Given the description of an element on the screen output the (x, y) to click on. 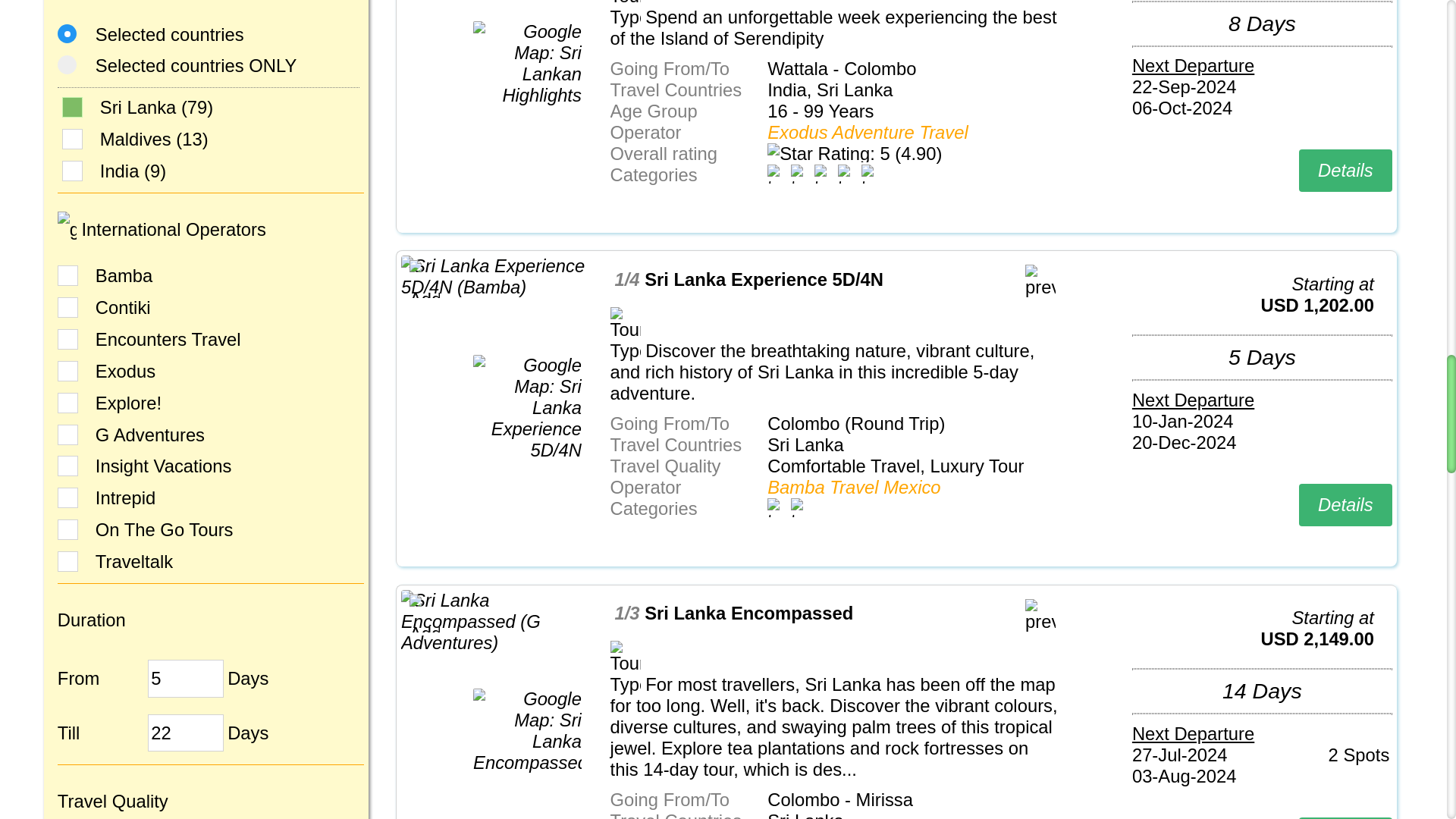
Bamba Travel Mexico (853, 486)
Details (1344, 170)
22 (186, 733)
5 (186, 678)
Exodus Adventure Travel (867, 132)
